Given the description of an element on the screen output the (x, y) to click on. 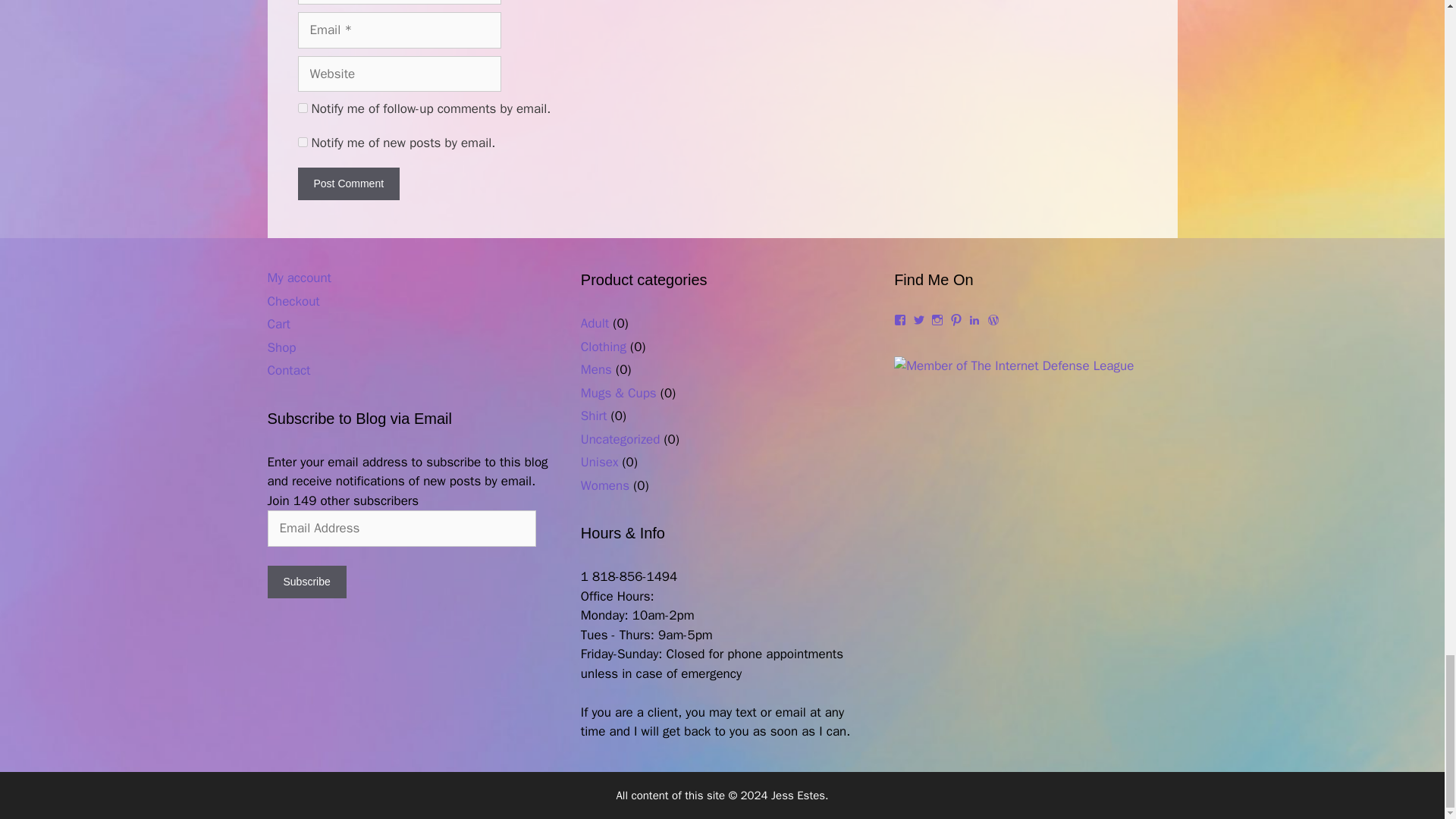
Shop (280, 347)
Clothing (603, 346)
Mens (595, 369)
subscribe (302, 108)
Checkout (292, 301)
subscribe (302, 142)
Shirt (593, 415)
Adult (594, 323)
Uncategorized (620, 439)
Post Comment (347, 183)
